Given the description of an element on the screen output the (x, y) to click on. 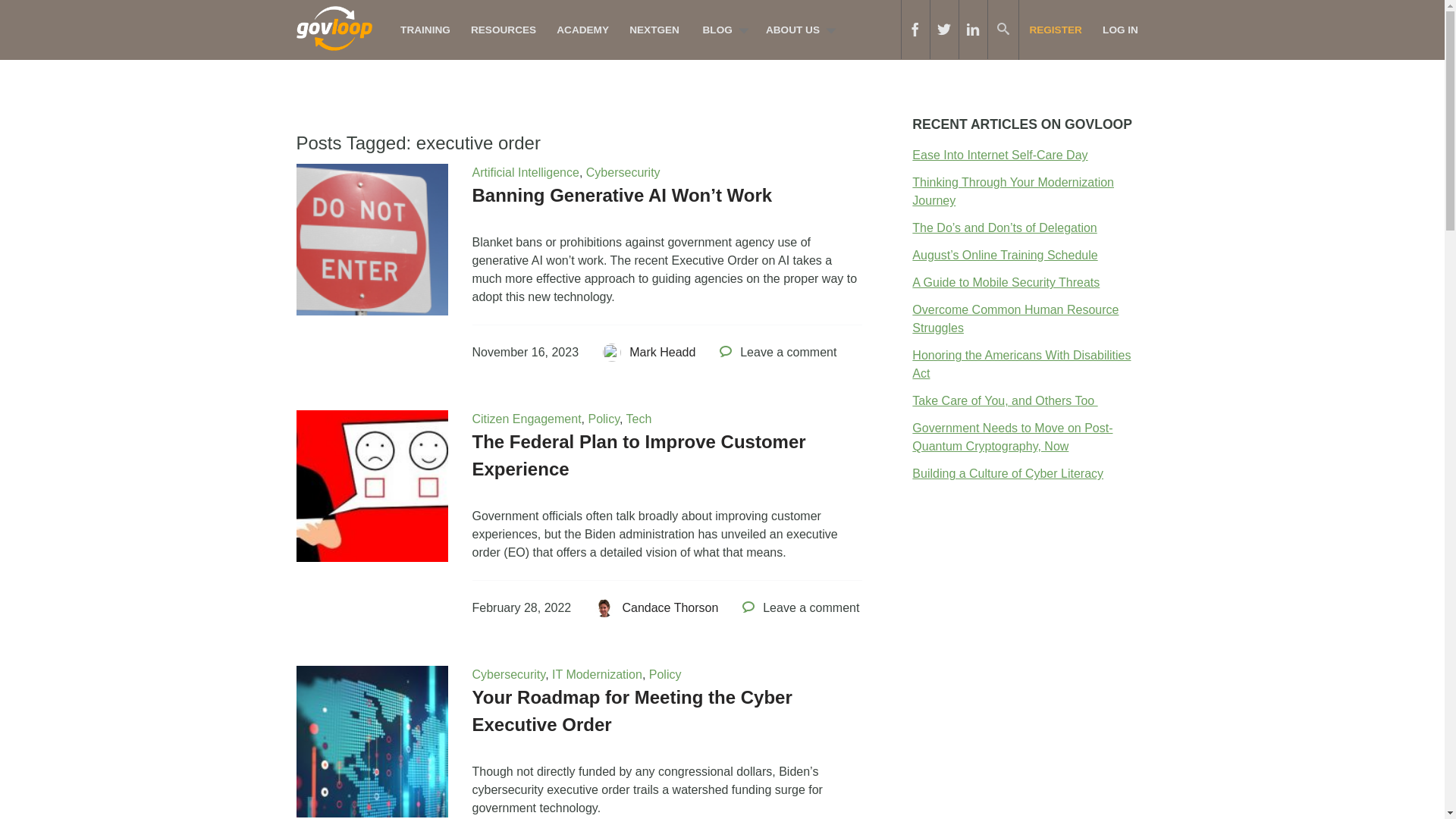
BLOG (721, 29)
LOG IN (1120, 29)
ABOUT US (796, 29)
ACADEMY (583, 29)
Your Roadmap for Meeting the Cyber Executive Order (631, 710)
REGISTER (1056, 29)
The Federal Plan to Improve Customer Experience (638, 455)
NEXTGEN (655, 29)
RESOURCES (503, 29)
TRAINING (425, 29)
